Given the description of an element on the screen output the (x, y) to click on. 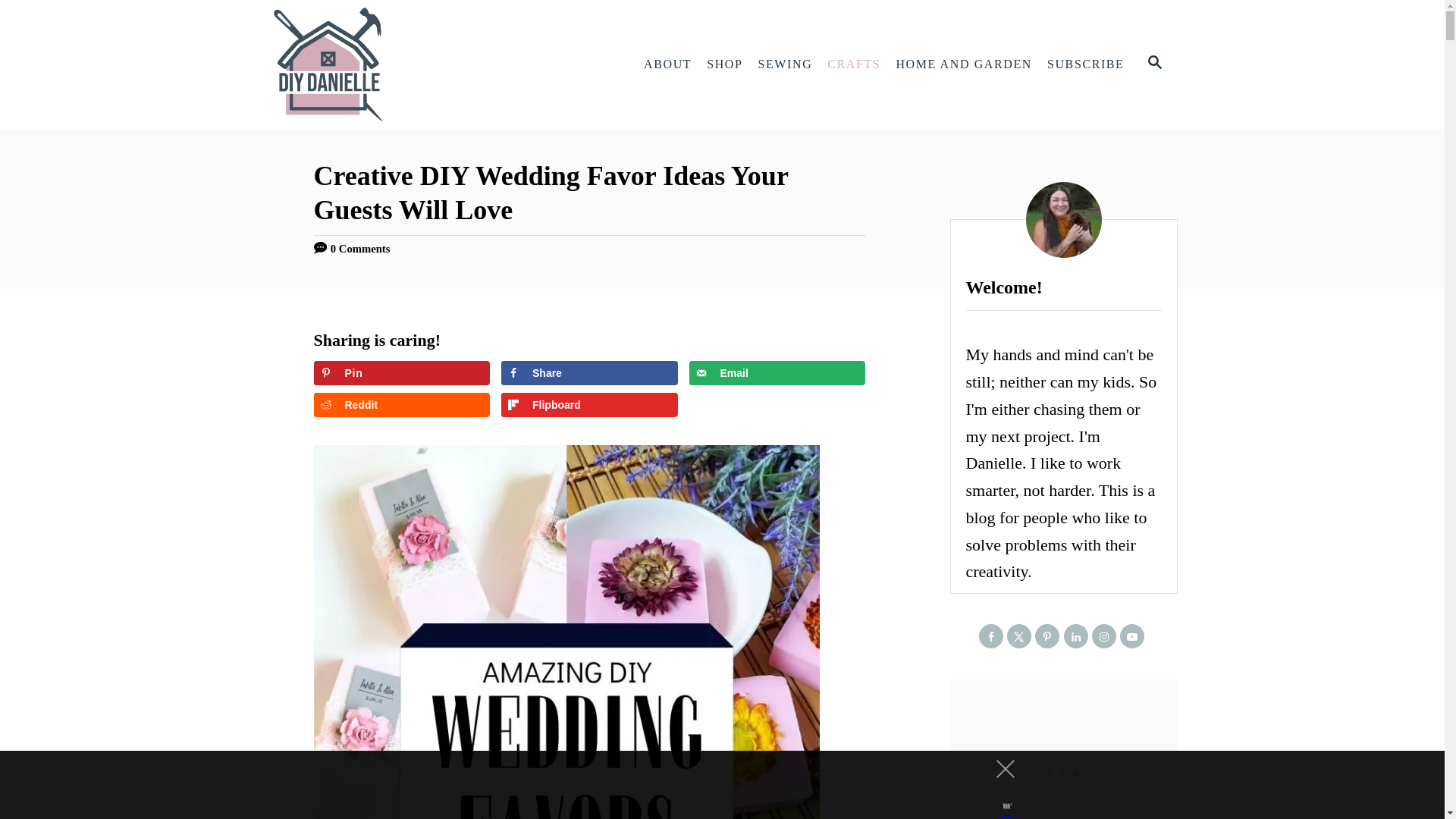
Reddit (402, 404)
Share (589, 372)
SEARCH (1153, 64)
Email (776, 372)
HOME AND GARDEN (963, 64)
Save to Pinterest (402, 372)
Pin (402, 372)
ABOUT (667, 64)
Share on Flipboard (589, 404)
Flipboard (589, 404)
Send over email (776, 372)
SEWING (786, 64)
SUBSCRIBE (1085, 64)
SHOP (723, 64)
CRAFTS (853, 64)
